Given the description of an element on the screen output the (x, y) to click on. 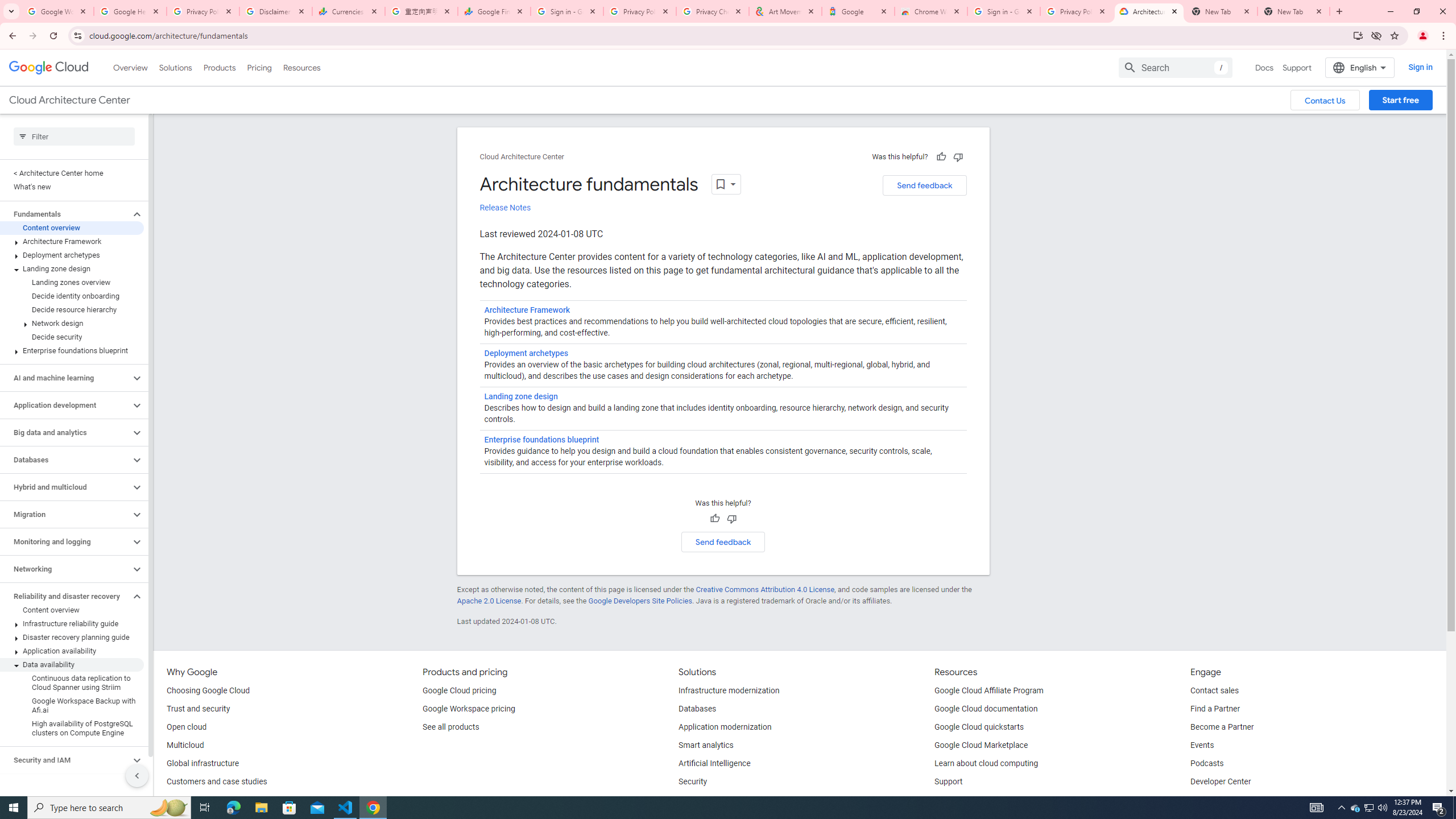
Install Google Cloud (1358, 35)
Not helpful (731, 518)
Landing zones overview (72, 282)
Reliability and disaster recovery (64, 596)
Developer Center (1220, 782)
Google Workspace Backup with Afi. ai (72, 705)
Disaster recovery planning guide (72, 637)
Multicloud (184, 745)
Open dropdown (726, 183)
Creative Commons Attribution 4.0 License (764, 589)
Google Cloud (48, 67)
Customers and case studies (216, 782)
